Given the description of an element on the screen output the (x, y) to click on. 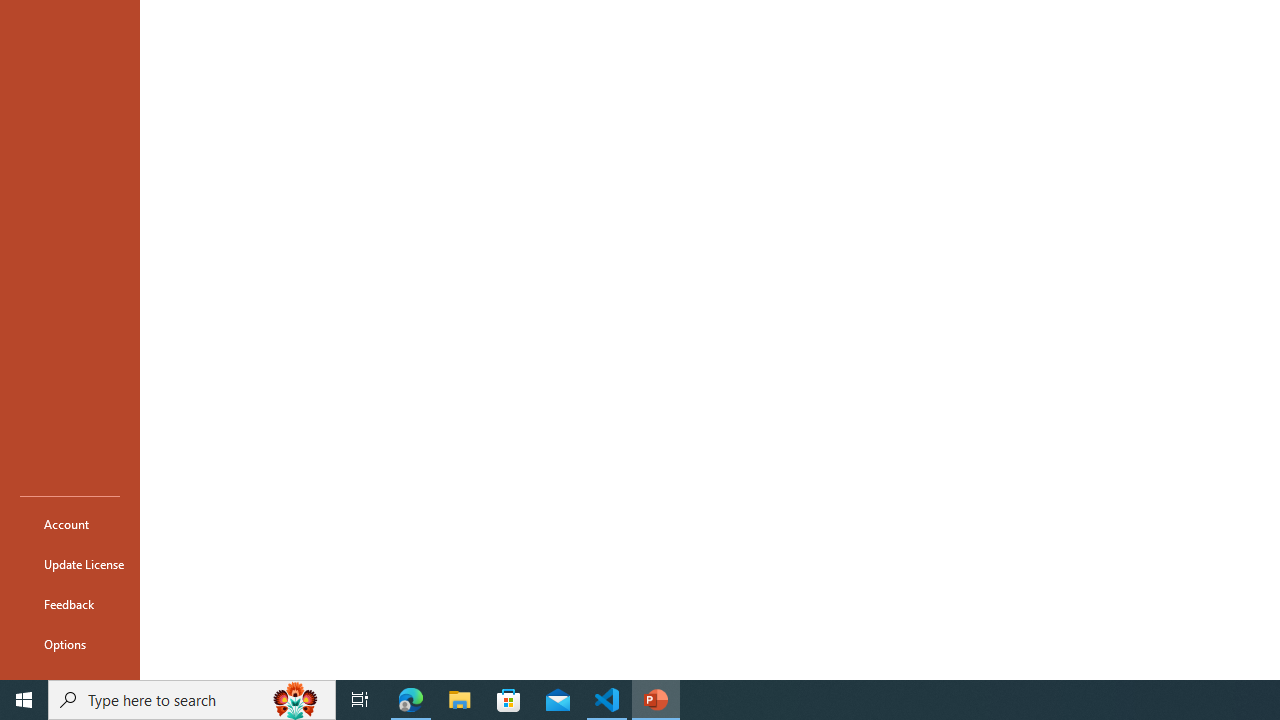
Options (69, 643)
Account (69, 523)
Feedback (69, 603)
Update License (69, 563)
